Given the description of an element on the screen output the (x, y) to click on. 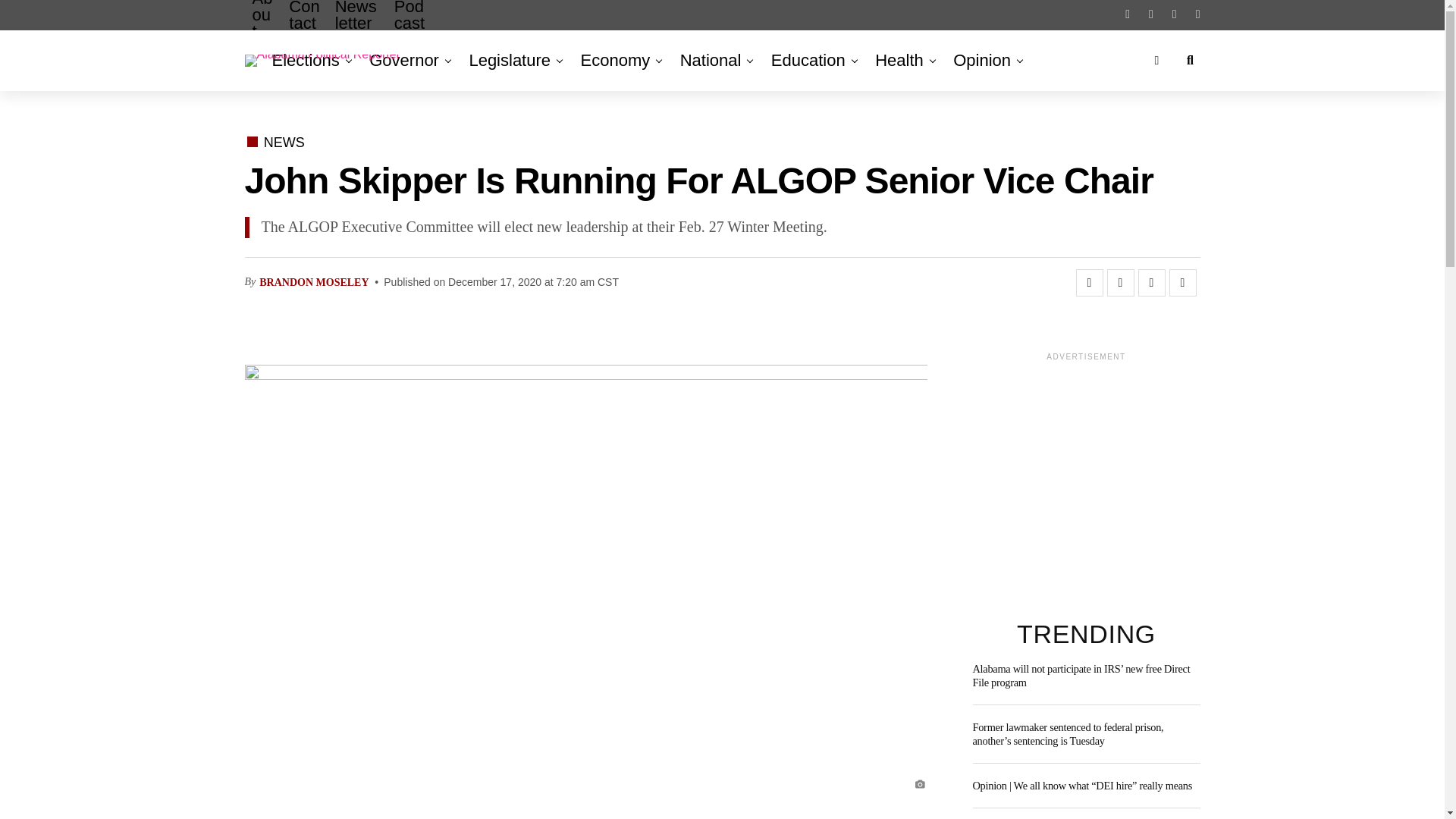
Elections (308, 60)
Posts by Brandon Moseley (313, 282)
Newsletter (357, 27)
Governor (403, 60)
Tweet This Post (1120, 281)
Share on Facebook (1088, 281)
Share on Flipboard (1150, 281)
